Given the description of an element on the screen output the (x, y) to click on. 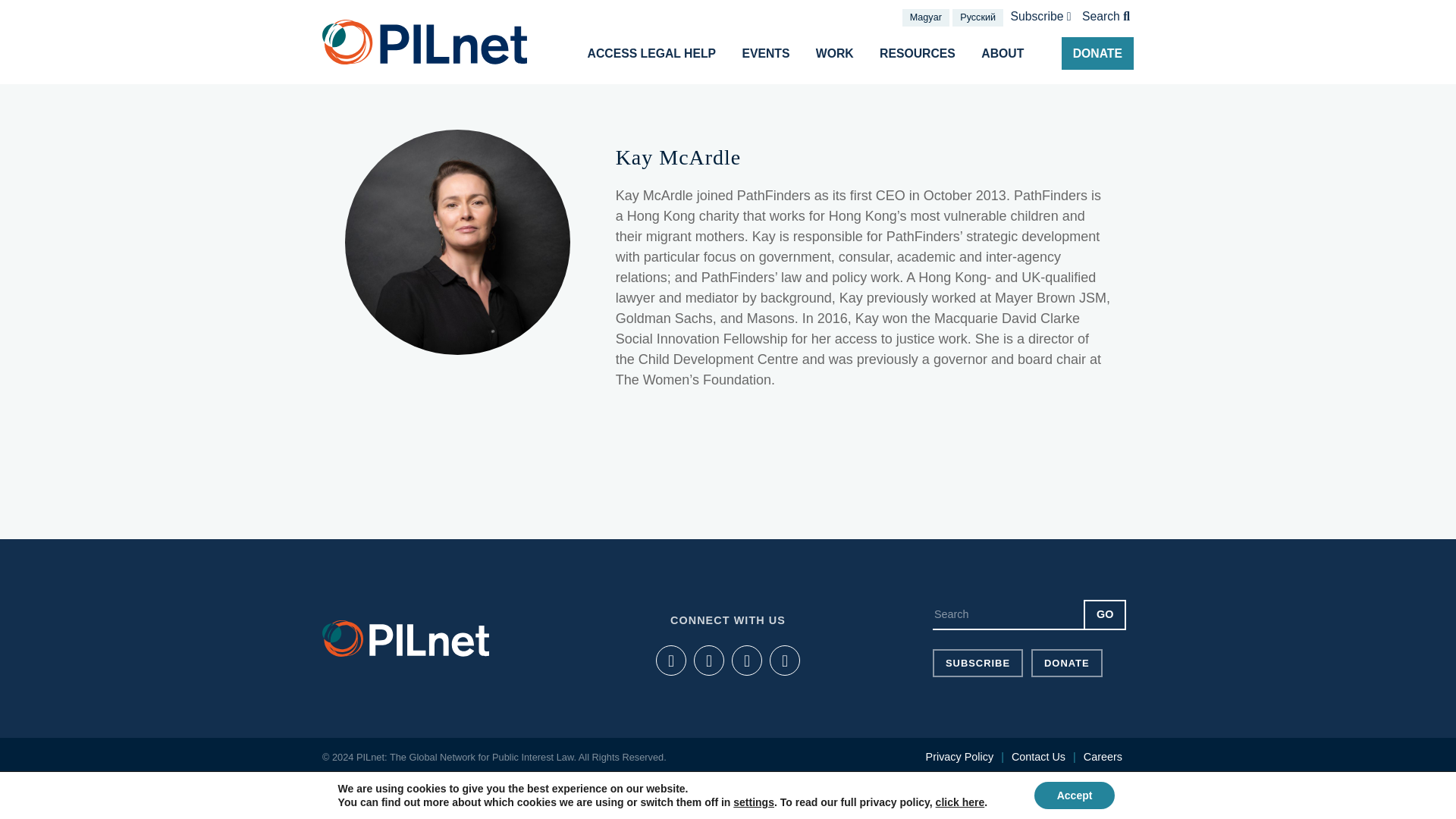
Go (1104, 614)
Subscribe (1040, 16)
EVENTS (765, 53)
Magyar (925, 17)
WORK (834, 53)
Search (1106, 16)
Go (1104, 614)
ACCESS LEGAL HELP (651, 53)
